Given the description of an element on the screen output the (x, y) to click on. 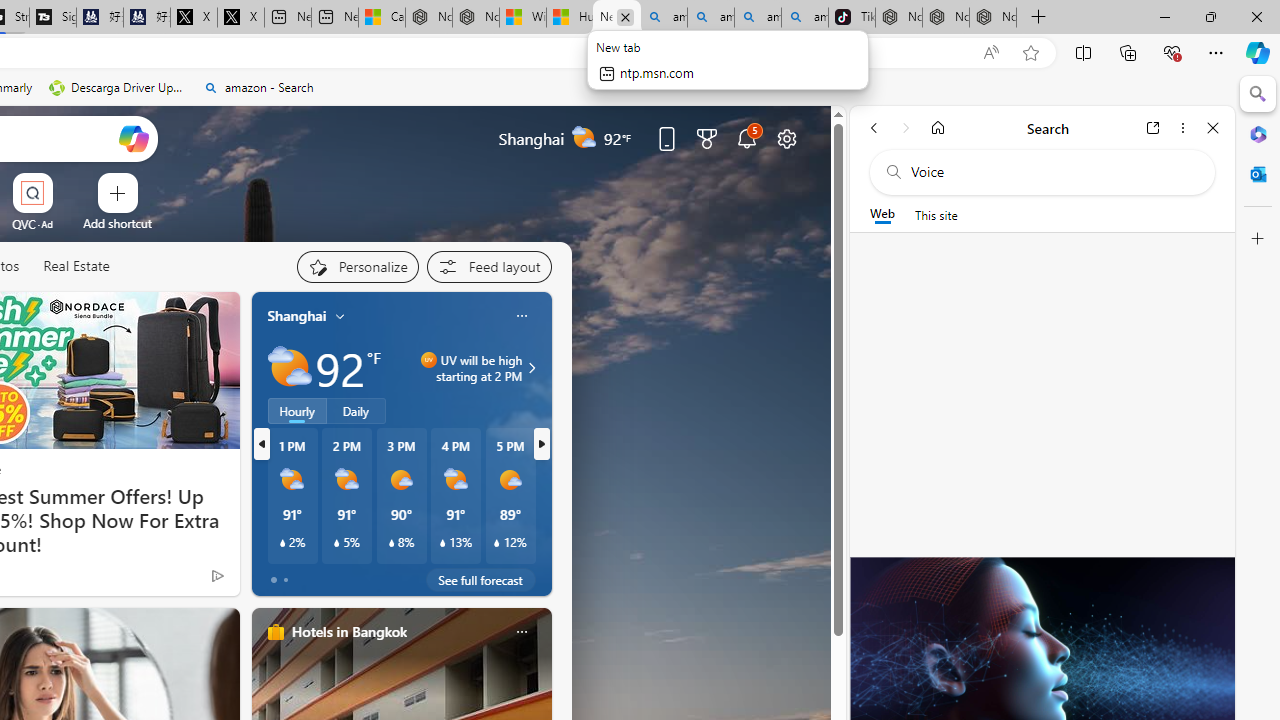
My location (340, 315)
UV will be high starting at 2 PM (529, 367)
Web scope (882, 214)
Notifications (746, 138)
Home (938, 127)
next (541, 443)
Forward (906, 127)
Microsoft 365 (1258, 133)
Class: weather-current-precipitation-glyph (497, 543)
